Given the description of an element on the screen output the (x, y) to click on. 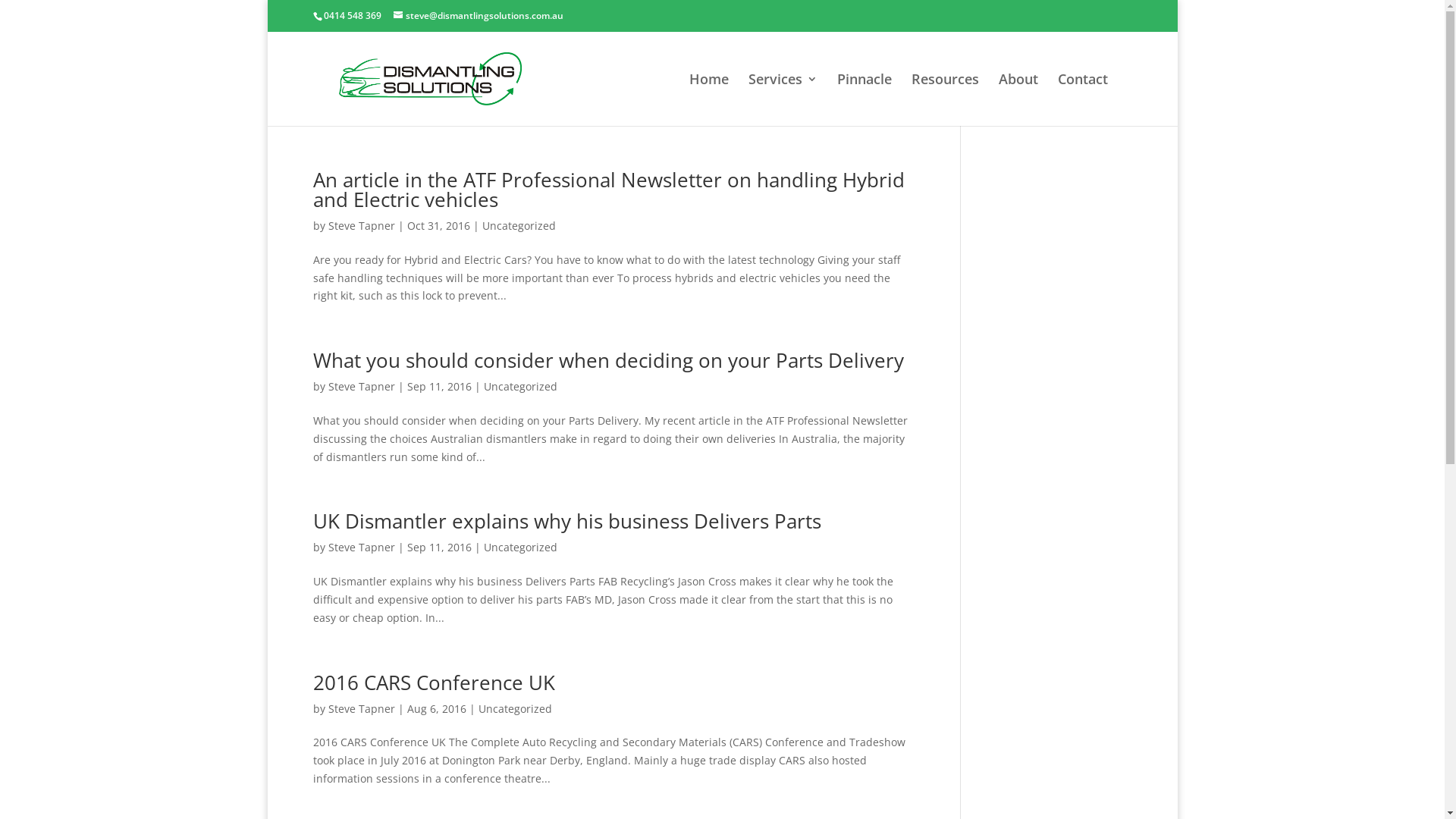
About Element type: text (1017, 99)
UK Dismantler explains why his business Delivers Parts Element type: text (566, 520)
Resources Element type: text (945, 99)
Steve Tapner Element type: text (360, 708)
Pinnacle Element type: text (864, 99)
Uncategorized Element type: text (520, 386)
Home Element type: text (708, 99)
Uncategorized Element type: text (518, 225)
steve@dismantlingsolutions.com.au Element type: text (477, 15)
Steve Tapner Element type: text (360, 225)
Steve Tapner Element type: text (360, 386)
Steve Tapner Element type: text (360, 546)
Services Element type: text (781, 99)
Uncategorized Element type: text (520, 546)
Contact Element type: text (1082, 99)
2016 CARS Conference UK Element type: text (433, 682)
Uncategorized Element type: text (514, 708)
